Given the description of an element on the screen output the (x, y) to click on. 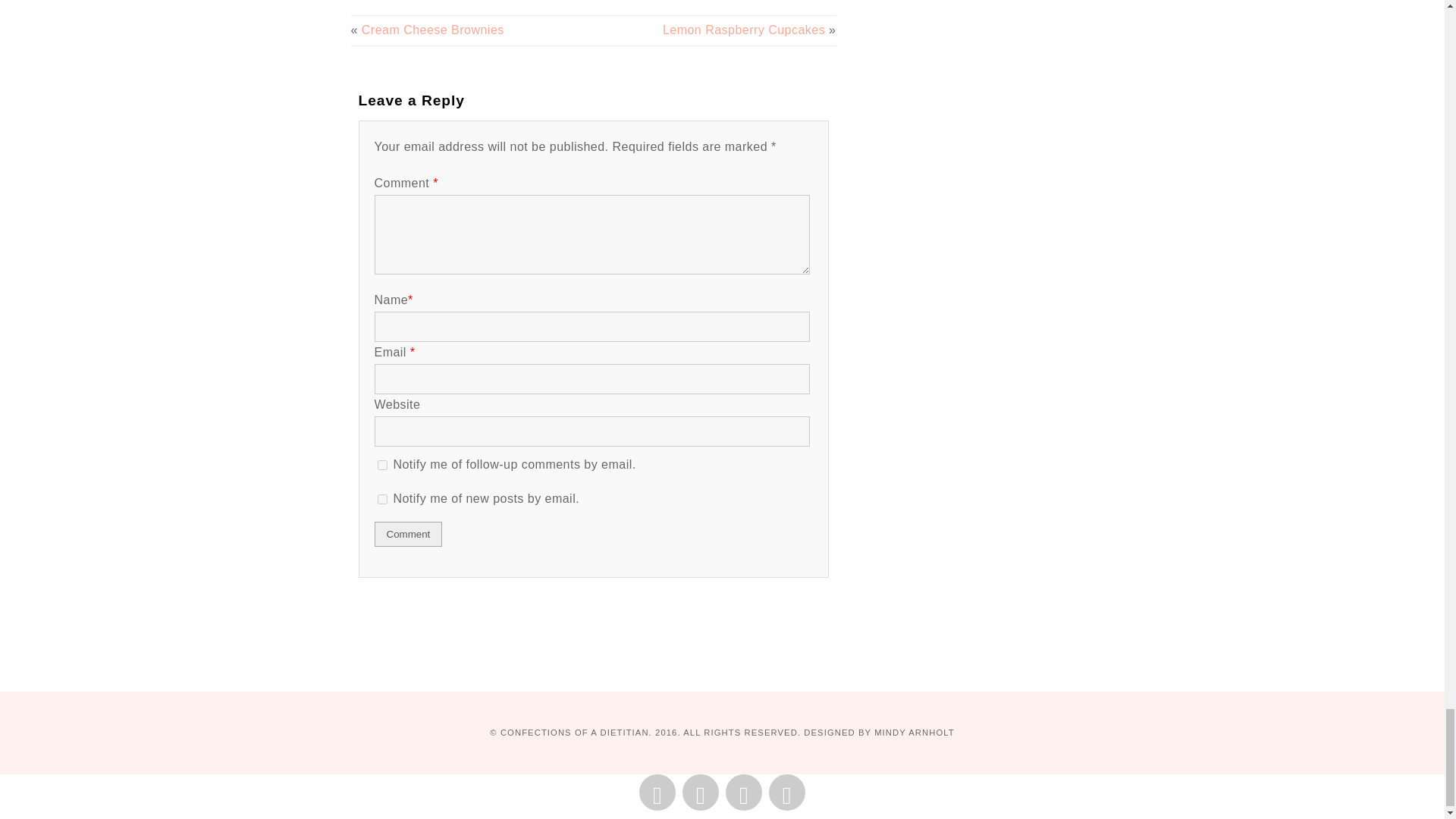
subscribe (382, 465)
subscribe (382, 499)
Cream Cheese Brownies (432, 29)
Comment (408, 534)
Lemon Raspberry Cupcakes (743, 29)
